Given the description of an element on the screen output the (x, y) to click on. 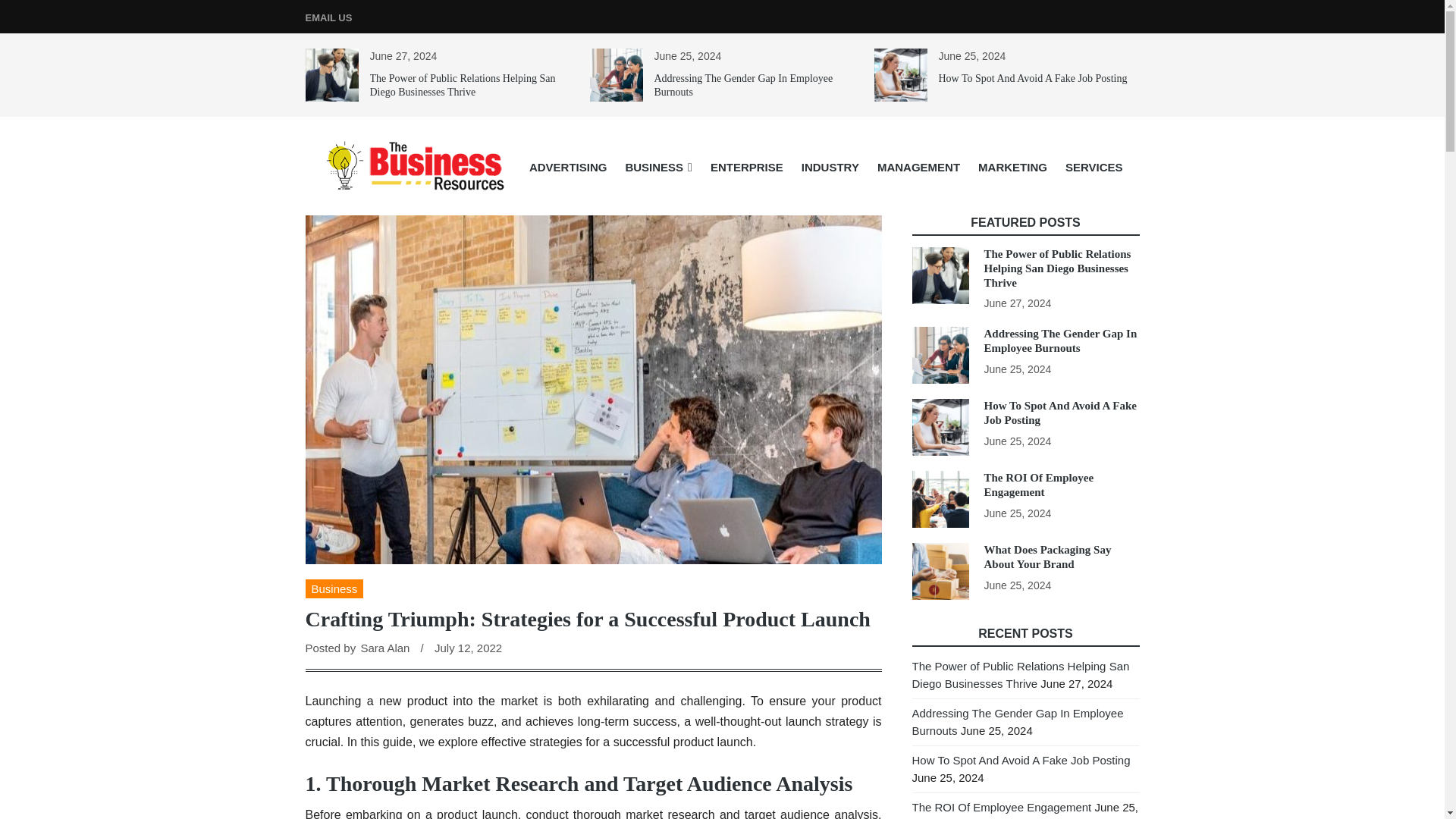
How To Spot And Avoid A Fake Job Posting (1032, 78)
ENTERPRISE (746, 167)
ADVERTISING (567, 167)
MARKETING (1013, 167)
EMAIL US (328, 17)
SERVICES (1094, 167)
MANAGEMENT (918, 167)
INDUSTRY (829, 167)
Business (333, 588)
Posts by Sara Alan (384, 647)
Sara Alan (384, 647)
Addressing The Gender Gap In Employee Burnouts (742, 84)
